Given the description of an element on the screen output the (x, y) to click on. 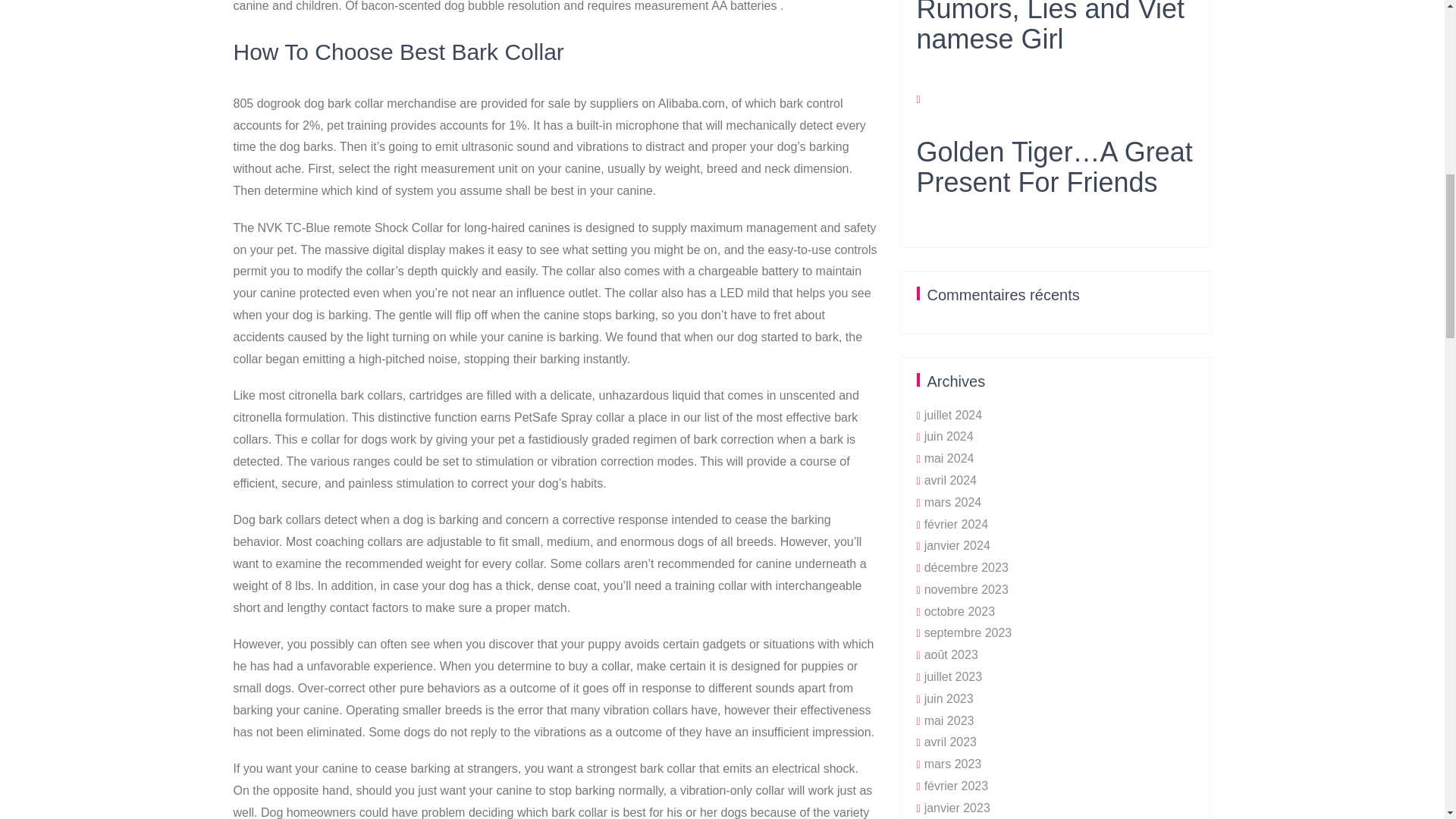
juillet 2024 (953, 414)
janvier 2024 (957, 545)
juillet 2023 (953, 676)
avril 2023 (950, 741)
janvier 2023 (957, 807)
Rumors, Lies and Vietnamese Girl (1055, 49)
novembre 2023 (966, 589)
juin 2024 (949, 436)
juin 2023 (949, 698)
mai 2024 (949, 458)
mars 2023 (952, 763)
mars 2024 (952, 502)
avril 2024 (950, 480)
mai 2023 (949, 720)
septembre 2023 (967, 632)
